Given the description of an element on the screen output the (x, y) to click on. 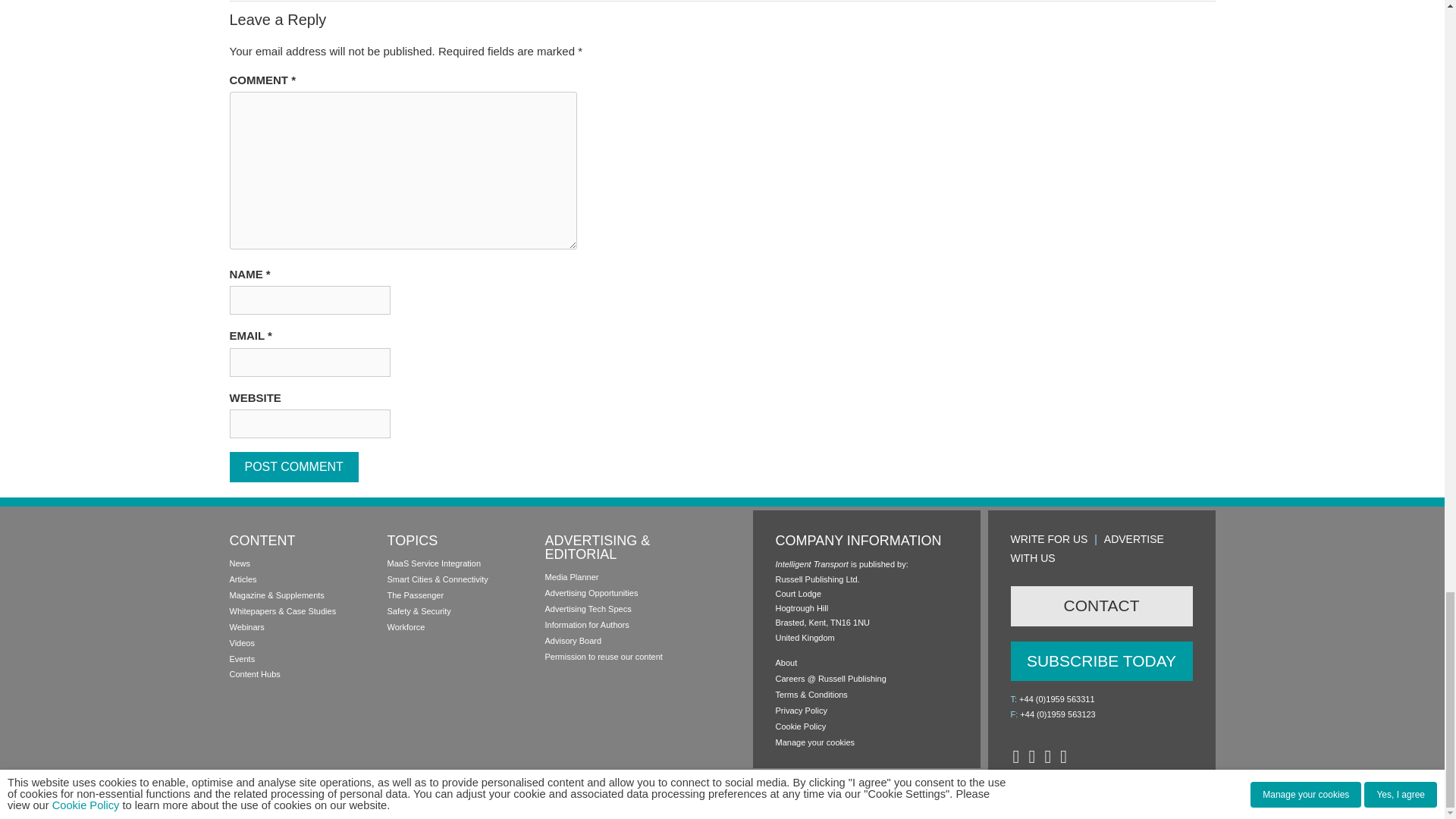
Post Comment (293, 467)
